Given the description of an element on the screen output the (x, y) to click on. 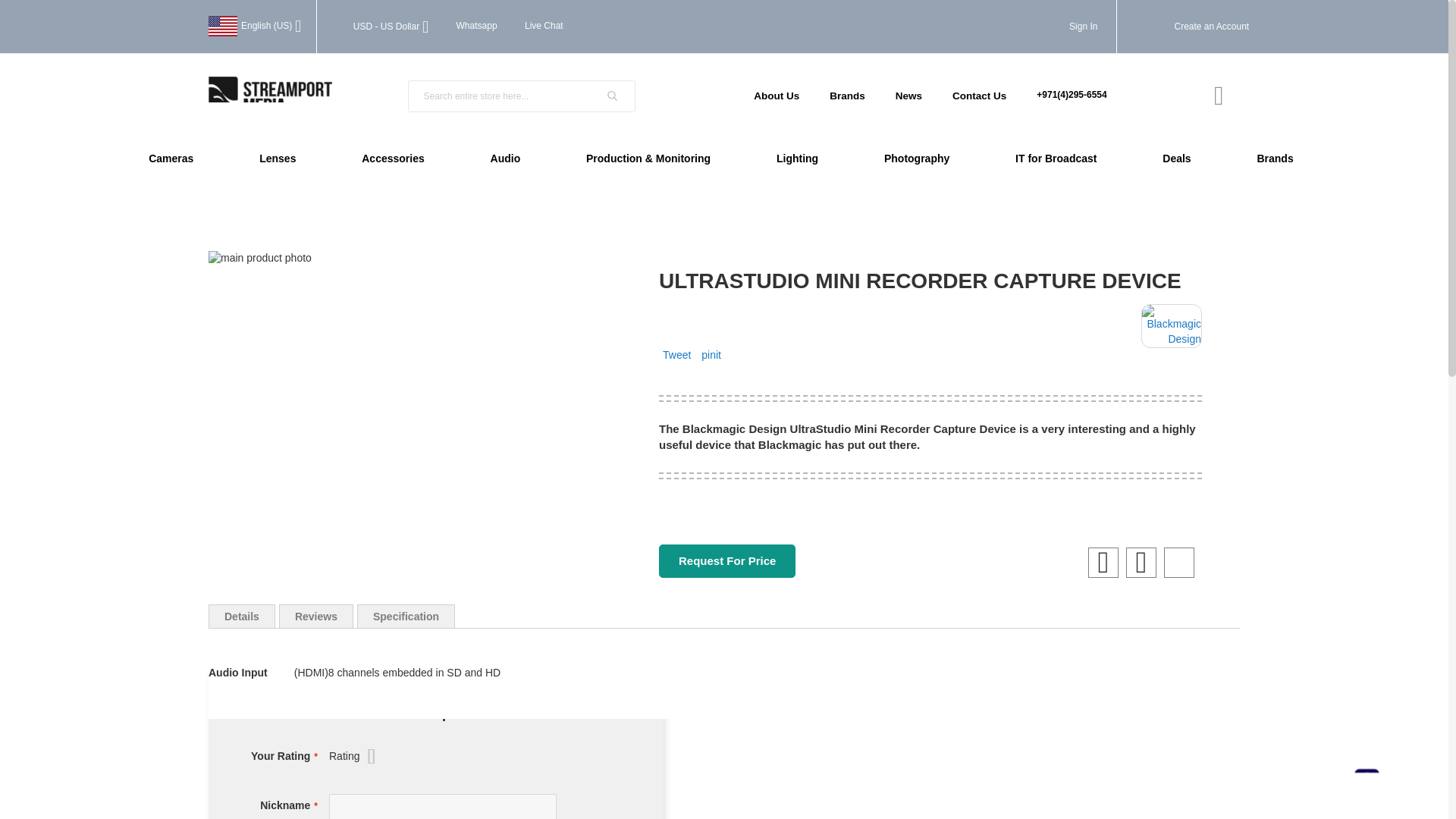
Audio (505, 158)
News (908, 95)
Tweet (676, 354)
Blackmagic Design (1171, 325)
Live Chat (543, 25)
Brands (846, 95)
Sign In (1082, 26)
Live Chat (543, 25)
